Given the description of an element on the screen output the (x, y) to click on. 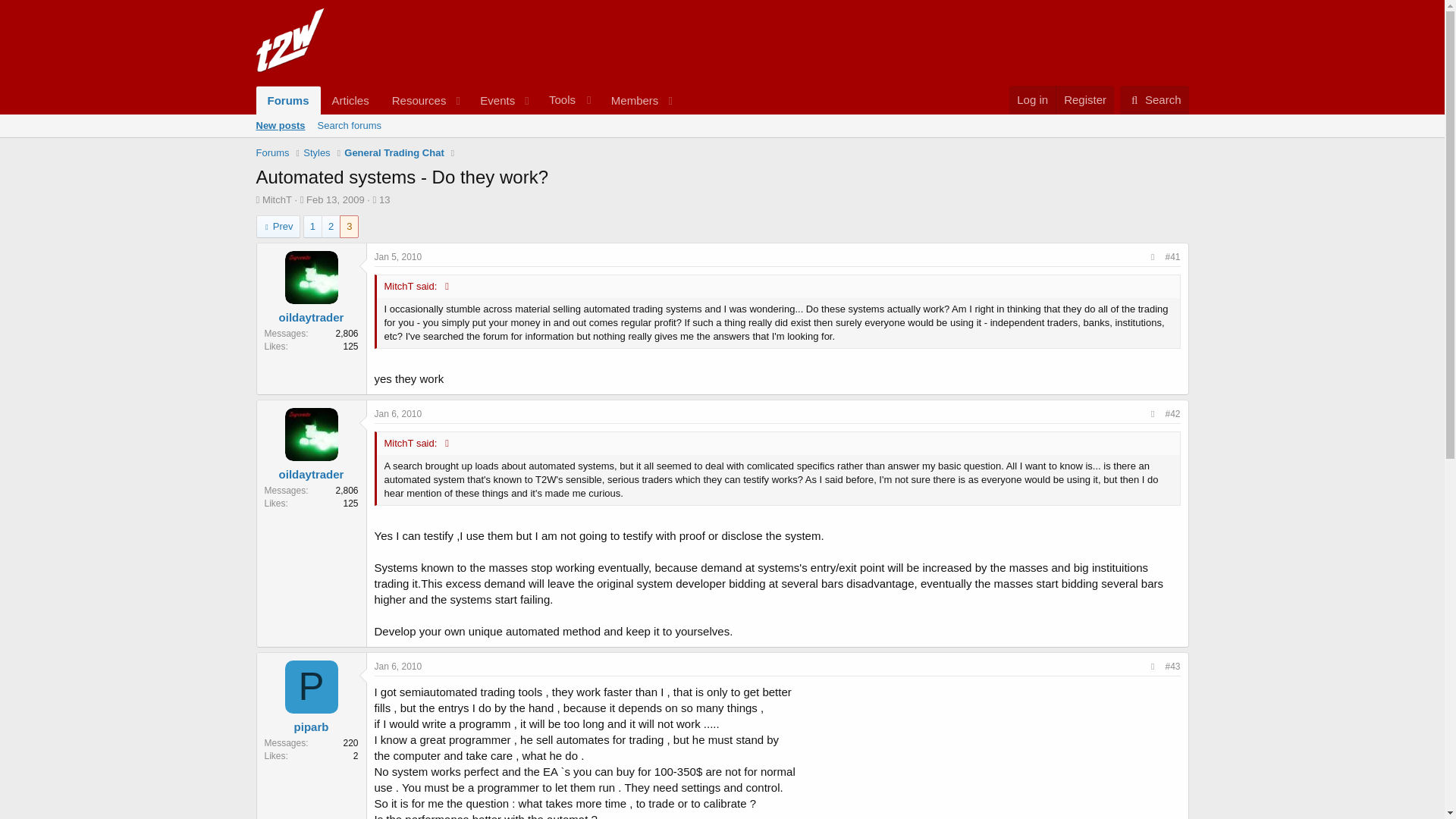
Jan 5, 2010 at 3:47 PM (398, 256)
MitchT (277, 199)
Styles (316, 152)
Members (629, 100)
Articles (350, 100)
Jan 6, 2010 at 7:02 AM (398, 413)
Feb 13, 2009 at 11:02 AM (335, 199)
Register (1084, 99)
Forums (288, 100)
Events (492, 100)
Search (1154, 99)
Jan 6, 2010 at 11:31 AM (398, 665)
Log in (520, 114)
Tools (1032, 99)
